Given the description of an element on the screen output the (x, y) to click on. 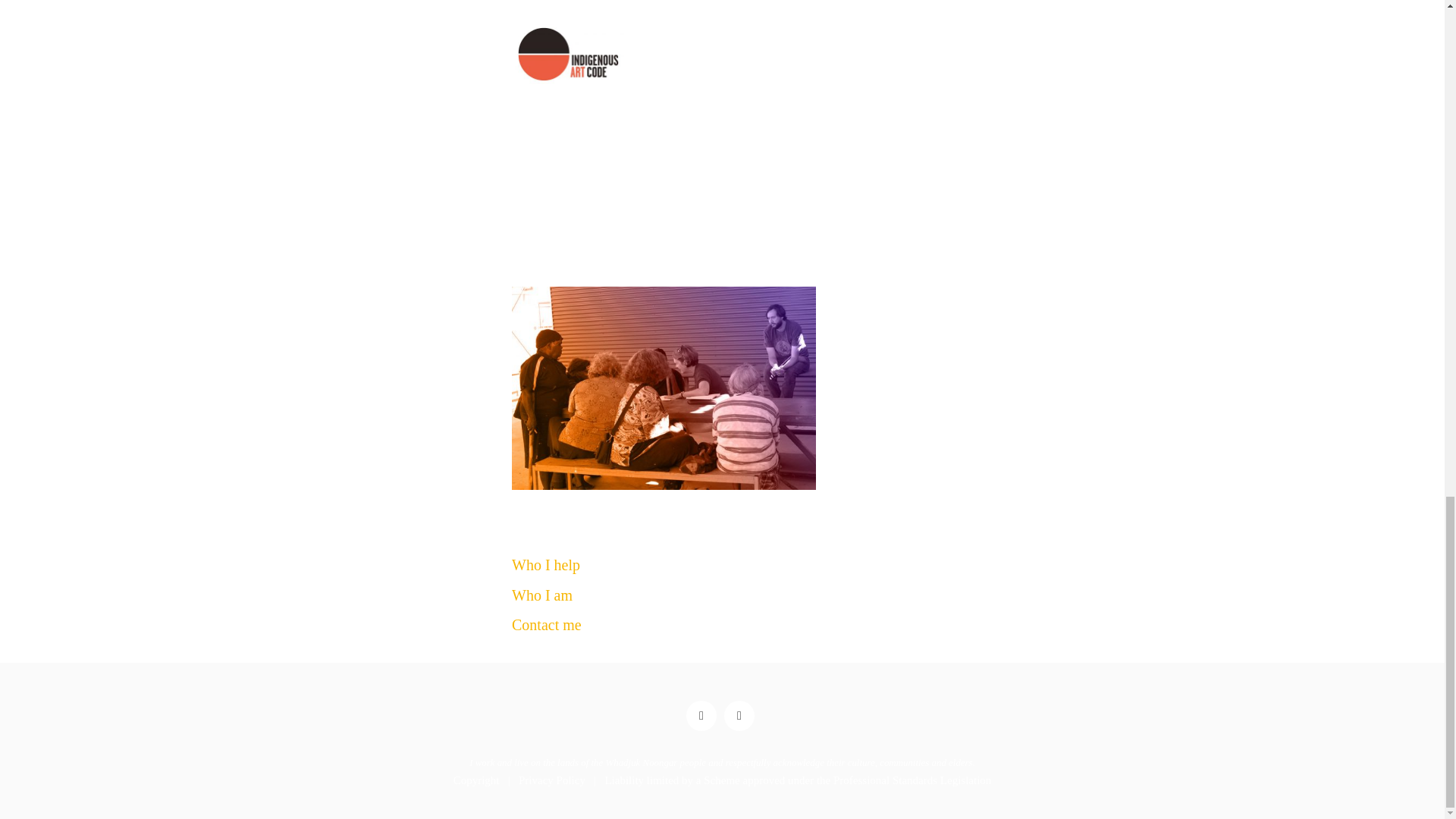
Who I am (542, 595)
Contact me (546, 624)
Who I help (545, 564)
